Given the description of an element on the screen output the (x, y) to click on. 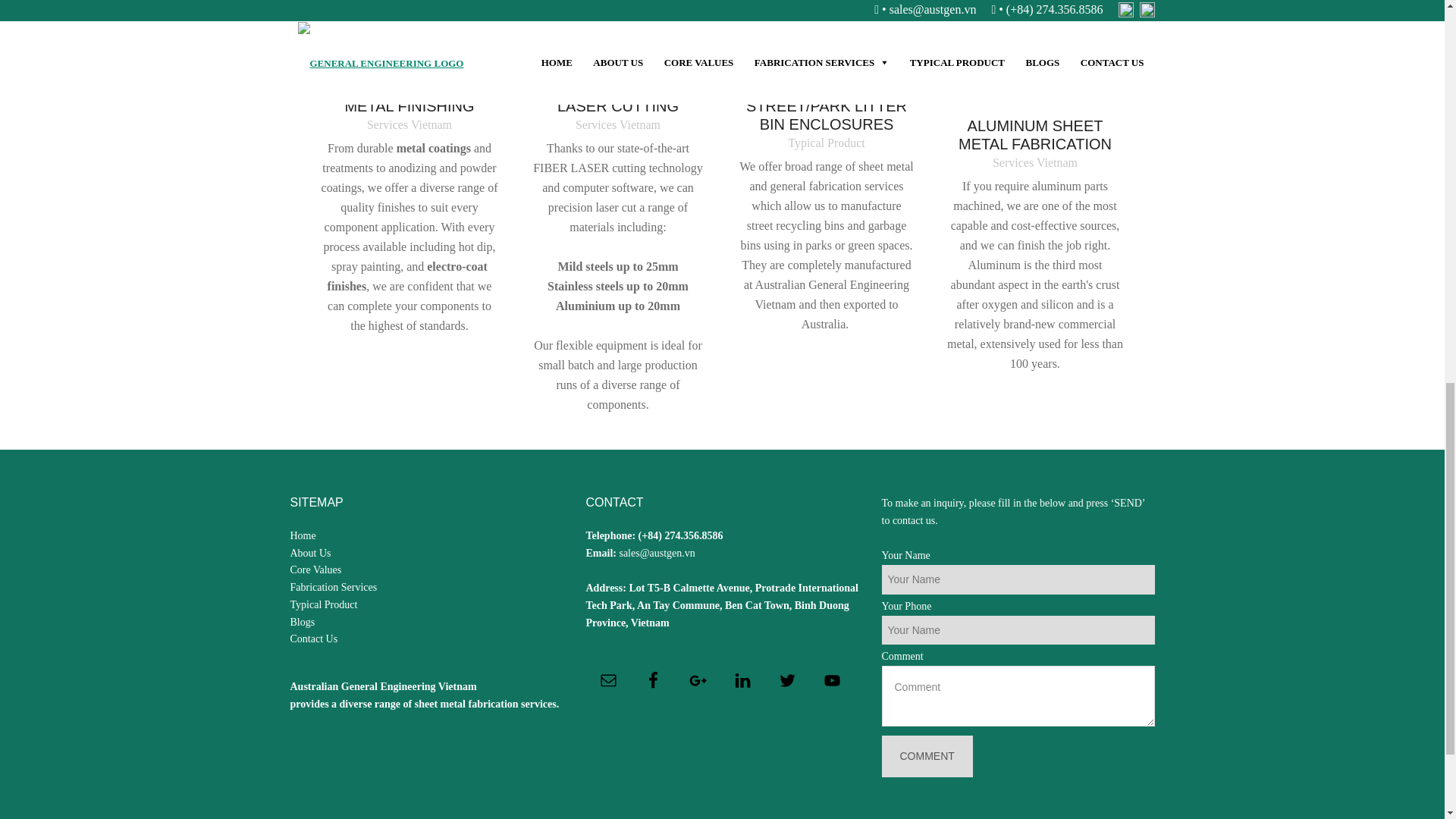
ALUMINUM SHEET METAL FABRICATION (1035, 135)
Home (302, 535)
METAL FINISHING (408, 106)
LASER CUTTING (618, 106)
